Given the description of an element on the screen output the (x, y) to click on. 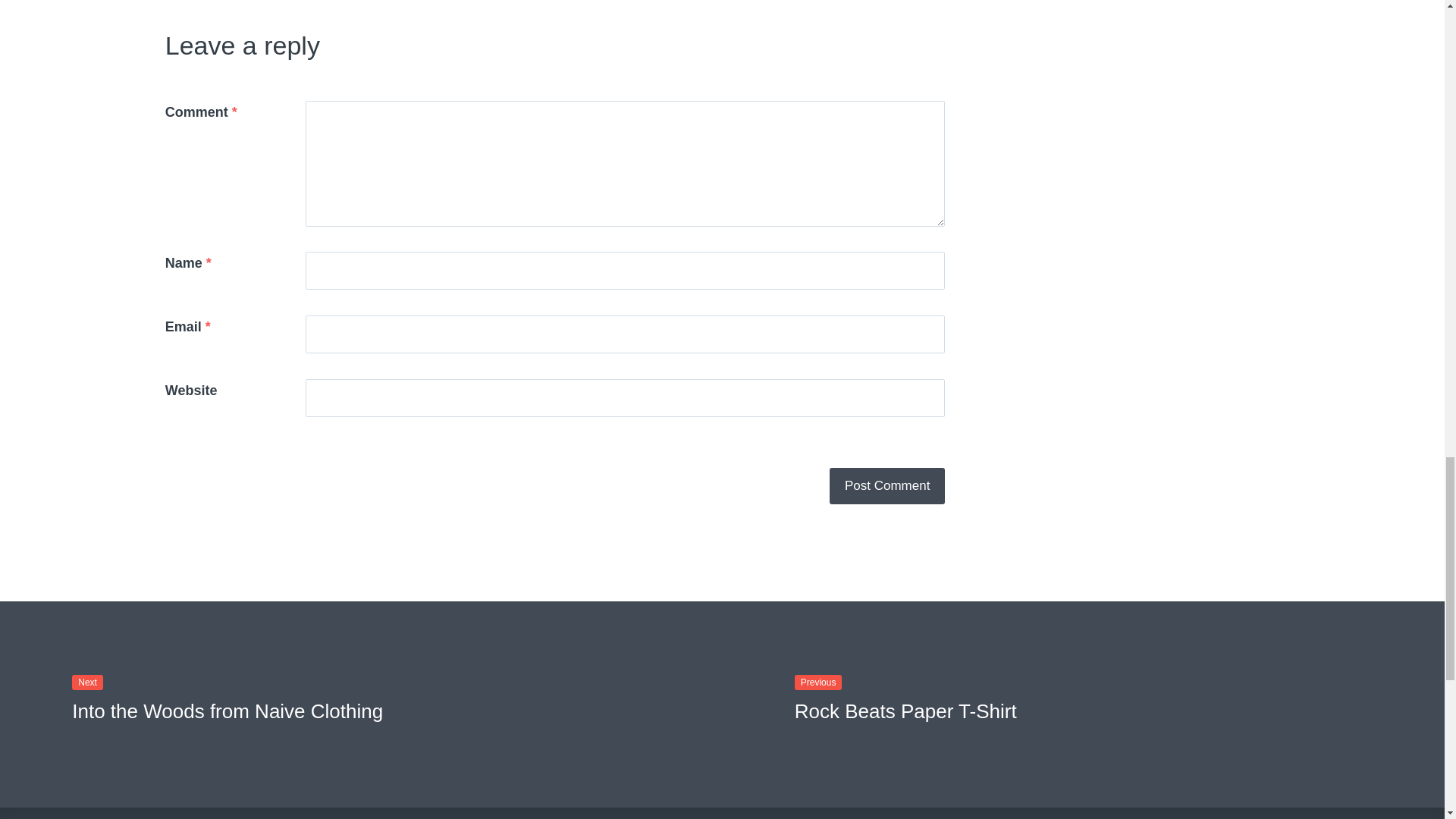
Post Comment (886, 485)
